Given the description of an element on the screen output the (x, y) to click on. 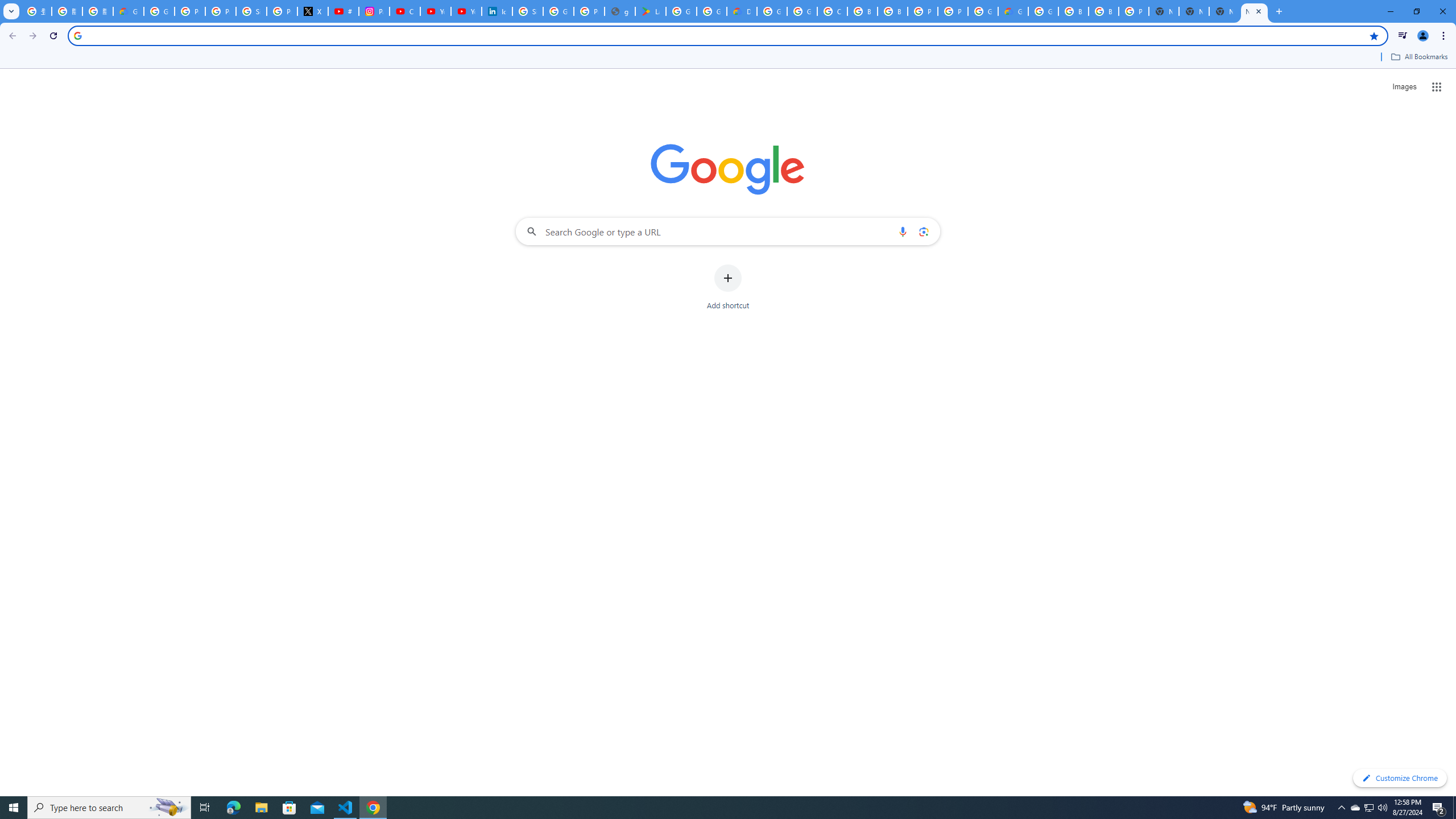
Google Cloud Platform (771, 11)
Browse Chrome as a guest - Computer - Google Chrome Help (1103, 11)
Privacy Help Center - Policies Help (220, 11)
Add shortcut (727, 287)
